Given the description of an element on the screen output the (x, y) to click on. 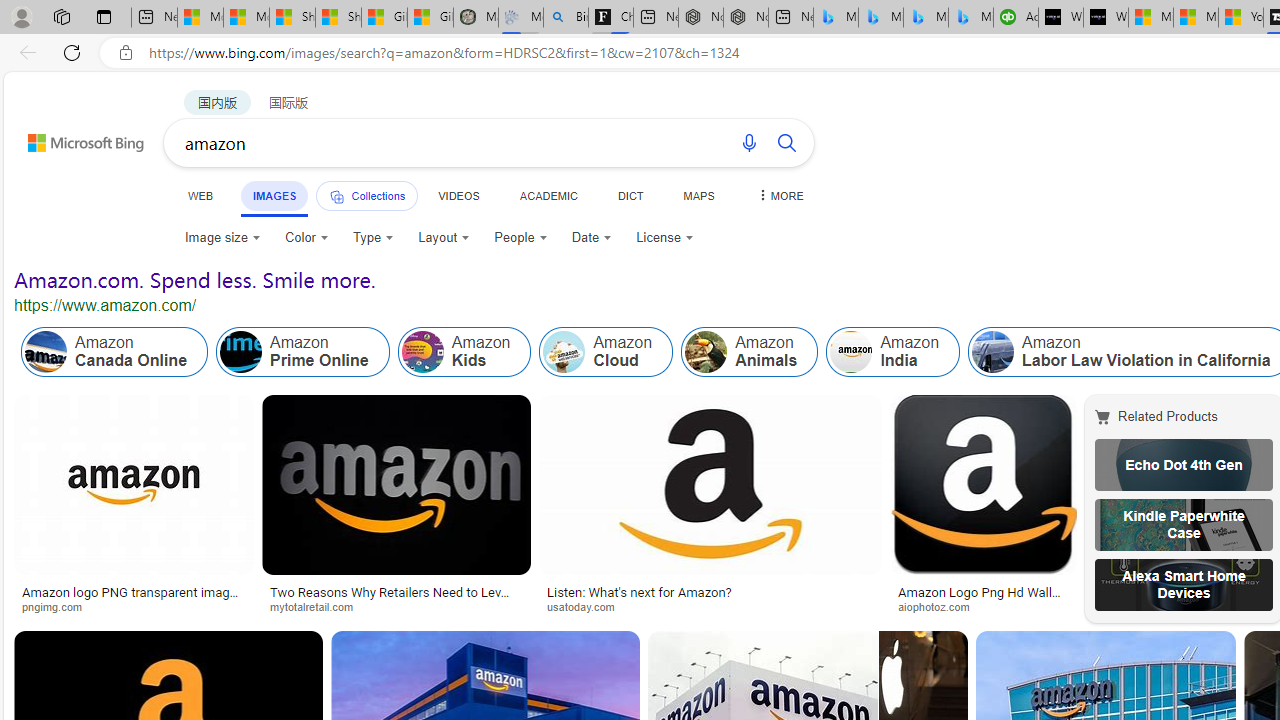
Kindle Paperwhite Case (1183, 524)
Gilma and Hector both pose tropical trouble for Hawaii (430, 17)
Amazon Animals (706, 351)
Date (591, 237)
pngimg.com (58, 605)
usatoday.com (710, 606)
Amazon Kids (422, 351)
MAPS (698, 195)
Echo Dot 4th Gen (1183, 465)
Amazon Prime Online (303, 351)
Type (373, 237)
Amazon Cloud (564, 351)
